Given the description of an element on the screen output the (x, y) to click on. 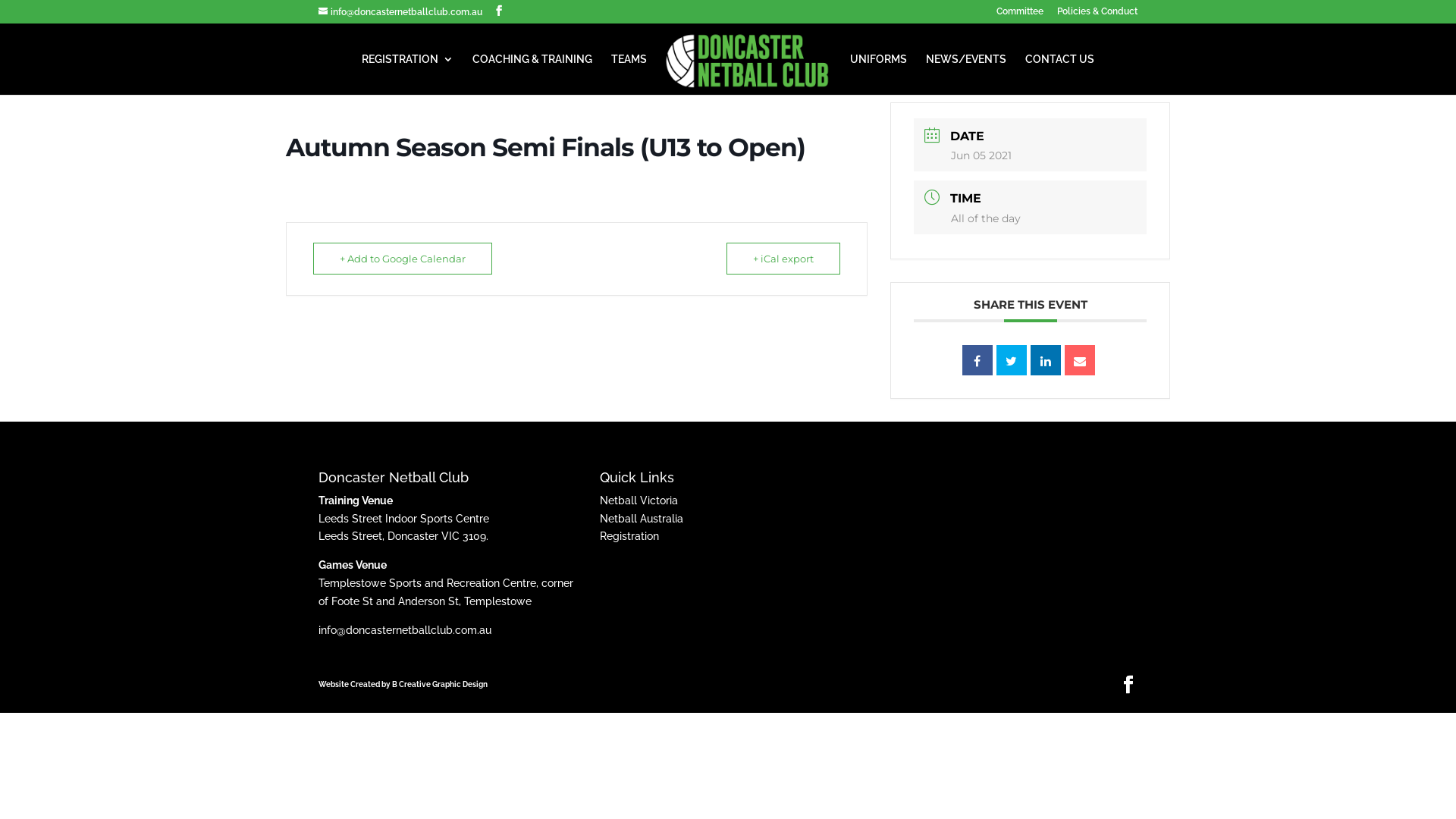
+ iCal export Element type: text (783, 258)
Linkedin Element type: hover (1045, 360)
CONTACT US Element type: text (1059, 73)
TEAMS Element type: text (628, 73)
COACHING & TRAINING Element type: text (532, 73)
Email Element type: hover (1079, 360)
REGISTRATION Element type: text (407, 73)
NEWS/EVENTS Element type: text (965, 73)
Registration Element type: text (628, 536)
+ Add to Google Calendar Element type: text (402, 258)
Website Created by B Creative Graphic Design Element type: text (402, 684)
Netball Australia Element type: text (641, 518)
Policies & Conduct Element type: text (1097, 14)
info@doncasternetballclub.com.au Element type: text (400, 11)
Tweet Element type: hover (1011, 360)
info@doncasternetballclub.com.au Element type: text (404, 630)
Netball Victoria Element type: text (638, 500)
UNIFORMS Element type: text (878, 73)
Share on Facebook Element type: hover (977, 360)
Committee Element type: text (1019, 14)
